Given the description of an element on the screen output the (x, y) to click on. 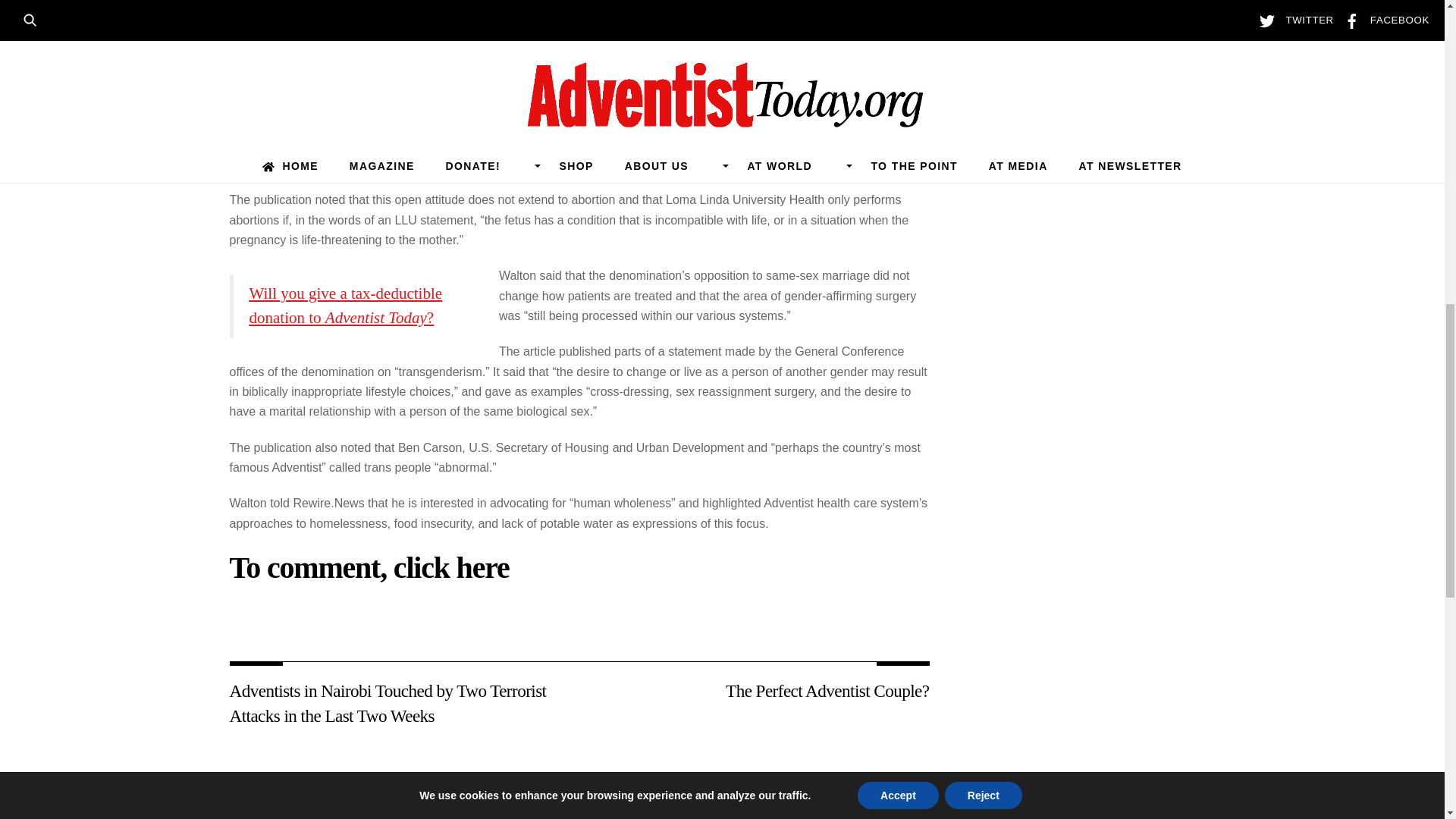
The Perfect Adventist Couple? (764, 690)
Will you give a tax-deductible donation to Adventist Today? (345, 305)
To comment, click here (368, 567)
